Given the description of an element on the screen output the (x, y) to click on. 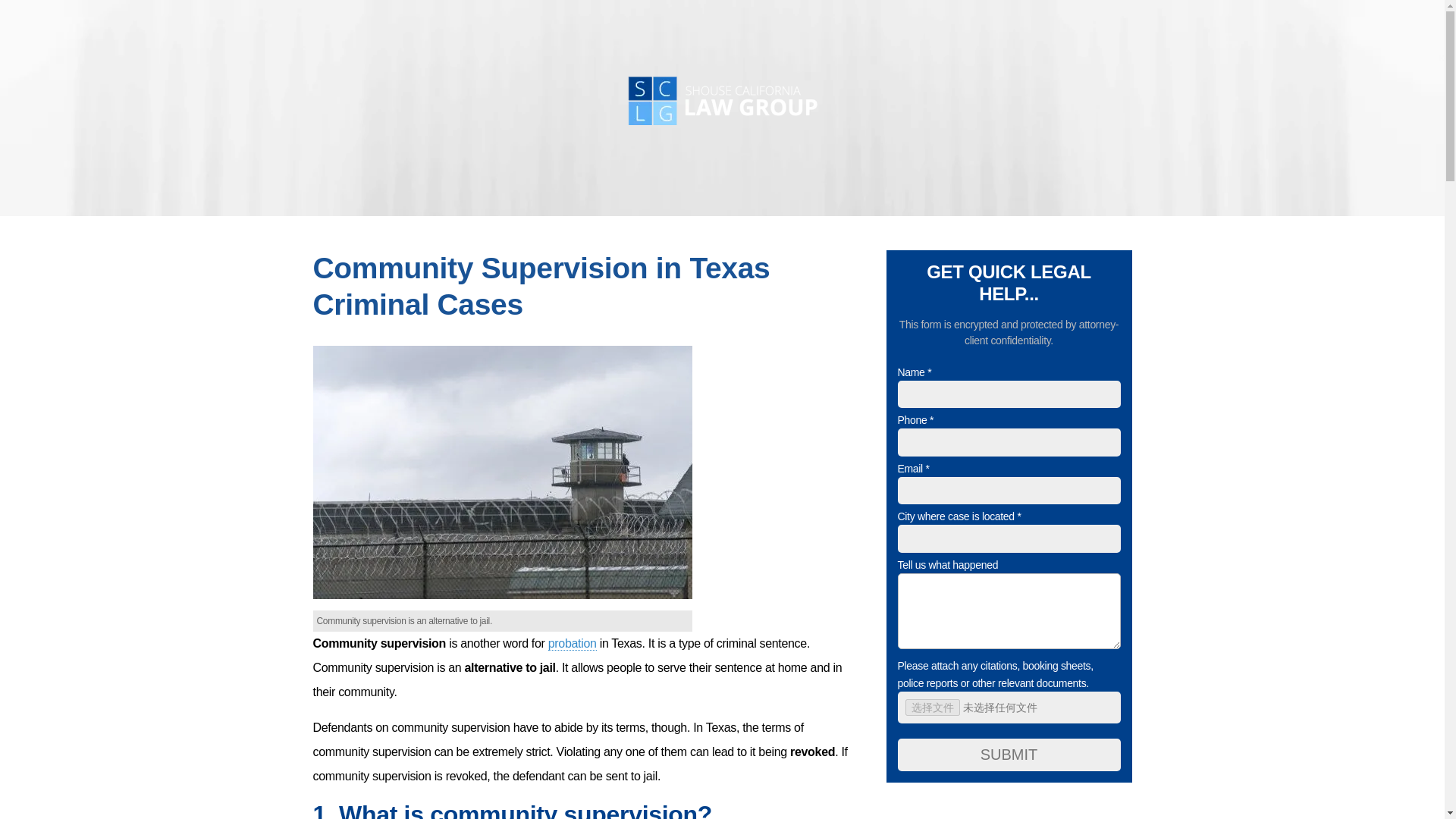
Submit (1009, 754)
Submit (716, 542)
